Given the description of an element on the screen output the (x, y) to click on. 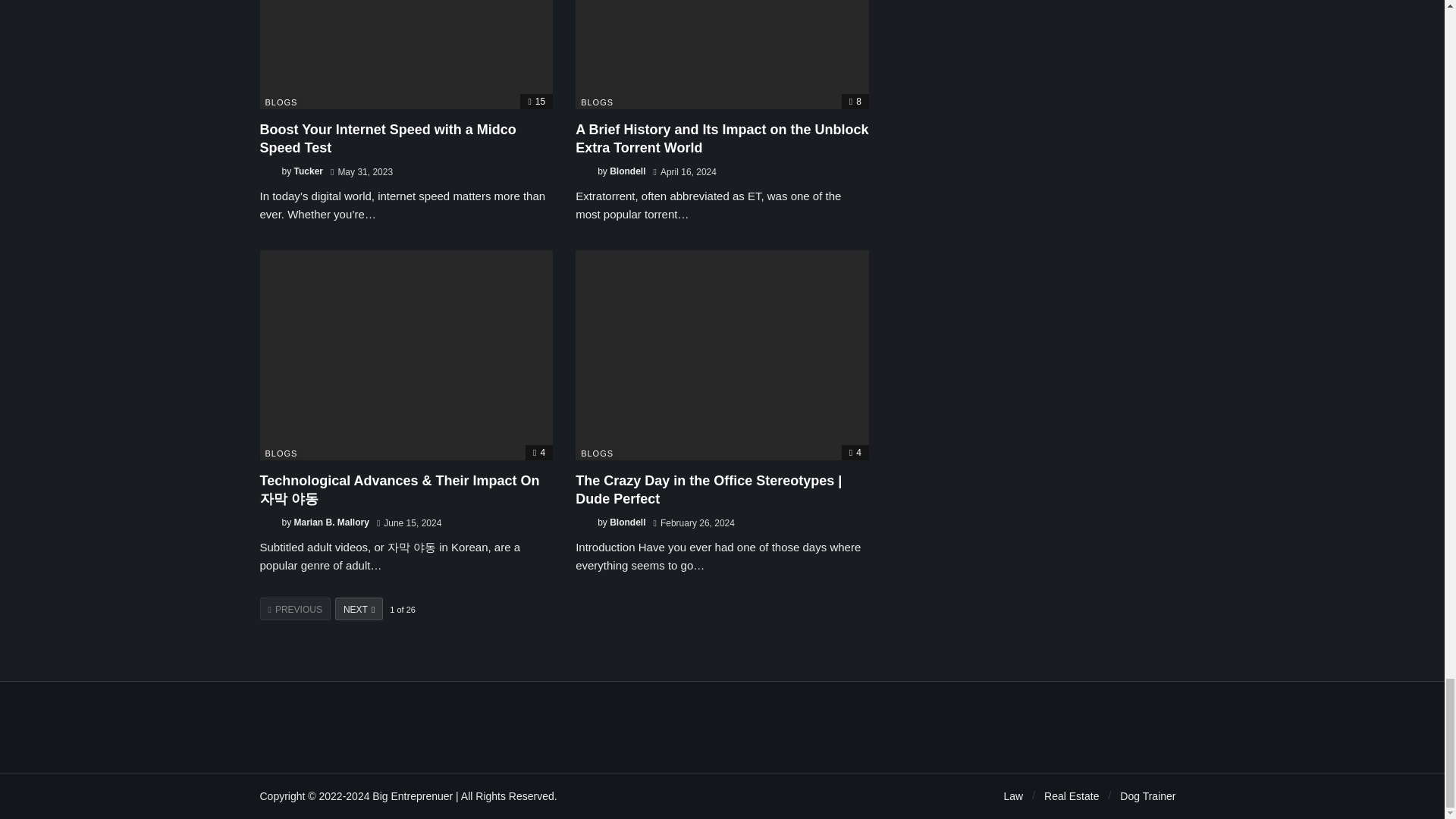
Boost Your Internet Speed with a Midco Speed Test (387, 138)
Boost Your Internet Speed with a Midco Speed Test (406, 54)
